Given the description of an element on the screen output the (x, y) to click on. 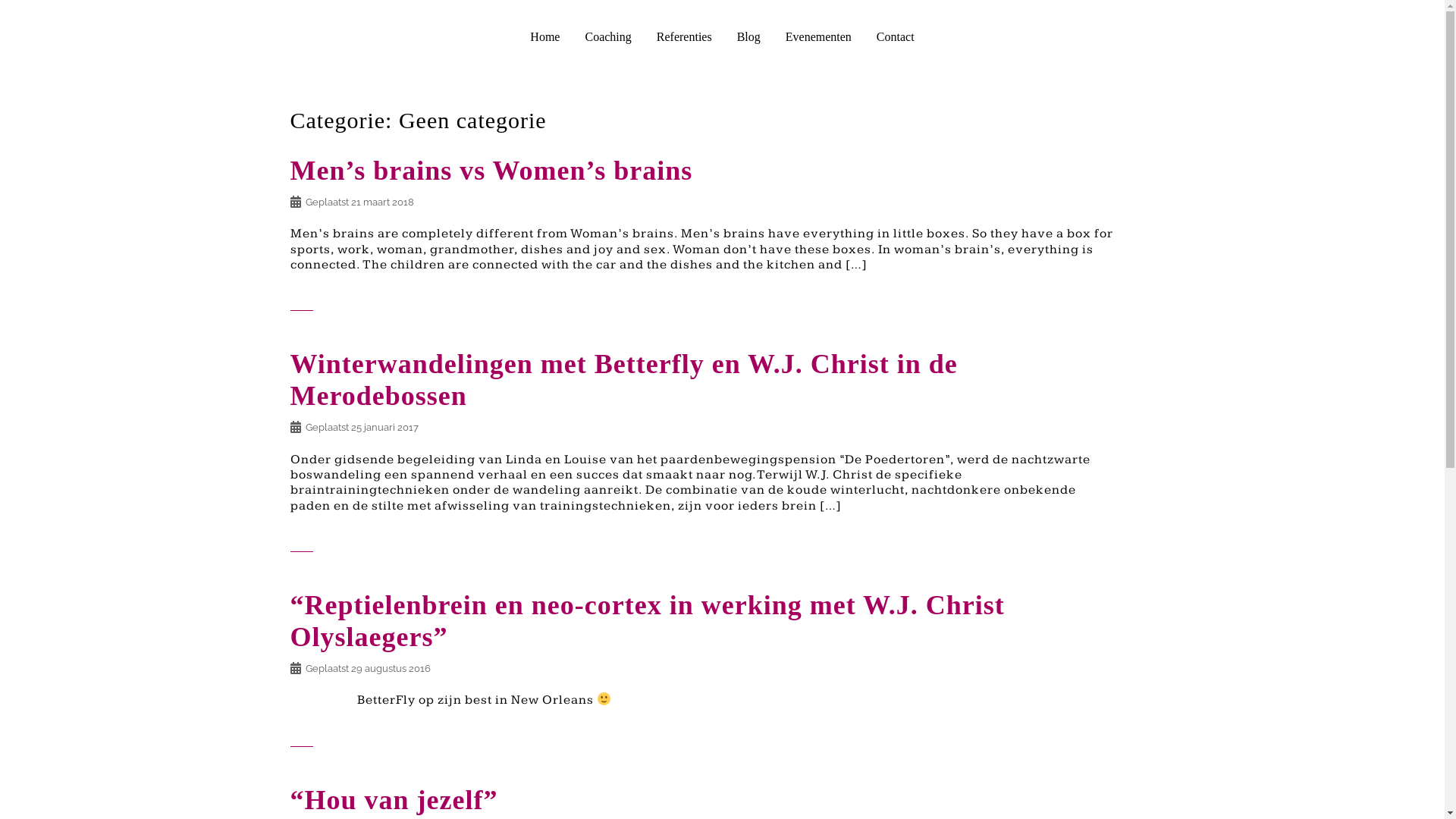
Coaching Element type: text (607, 36)
Blog Element type: text (748, 36)
Spring naar inhoud Element type: text (0, 0)
Home Element type: text (544, 36)
Evenementen Element type: text (818, 36)
Contact Element type: text (895, 36)
25 januari 2017 Element type: text (383, 427)
29 augustus 2016 Element type: text (389, 668)
Referenties Element type: text (684, 36)
21 maart 2018 Element type: text (381, 201)
